Given the description of an element on the screen output the (x, y) to click on. 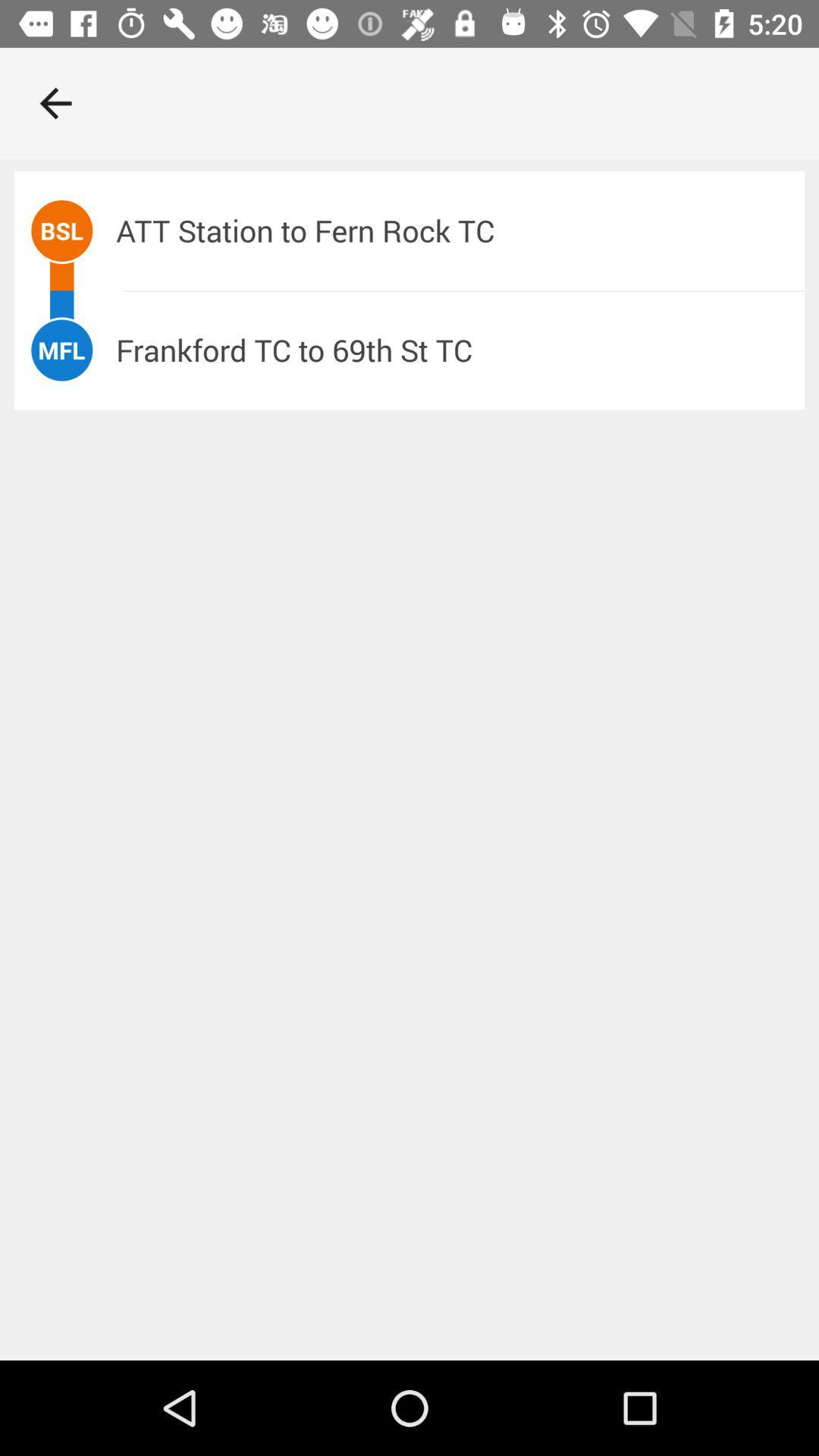
jump to att station to item (460, 230)
